Given the description of an element on the screen output the (x, y) to click on. 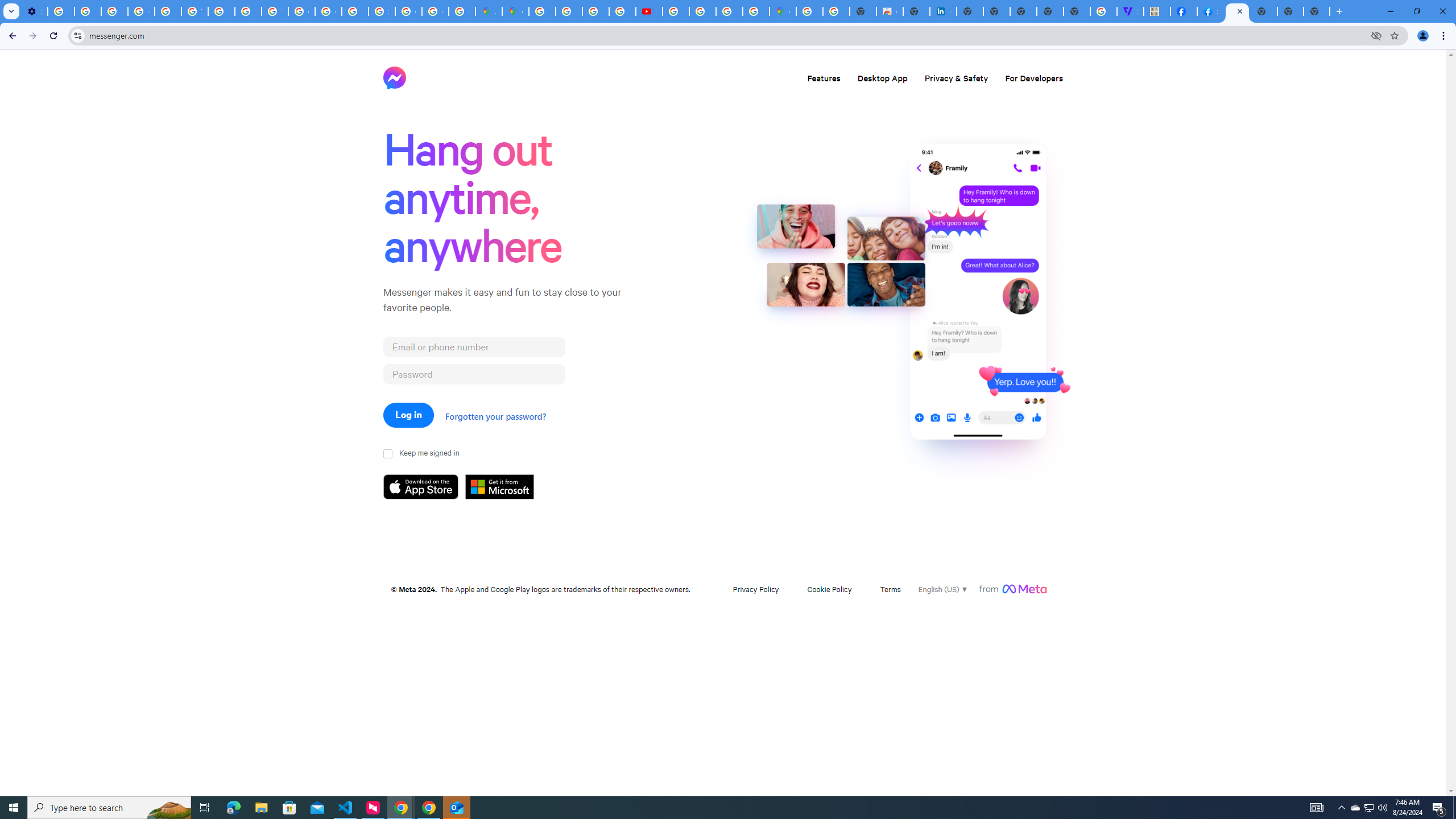
https://scholar.google.com/ (221, 11)
Forgotten your password? (495, 415)
Delete photos & videos - Computer - Google Photos Help (61, 11)
Address and search bar (726, 35)
Sign Up for Facebook (1210, 11)
Privacy Help Center - Policies Help (167, 11)
How Chrome protects your passwords - Google Chrome Help (676, 11)
Subscriptions - YouTube (649, 11)
Desktop App (882, 77)
Features (823, 77)
